Given the description of an element on the screen output the (x, y) to click on. 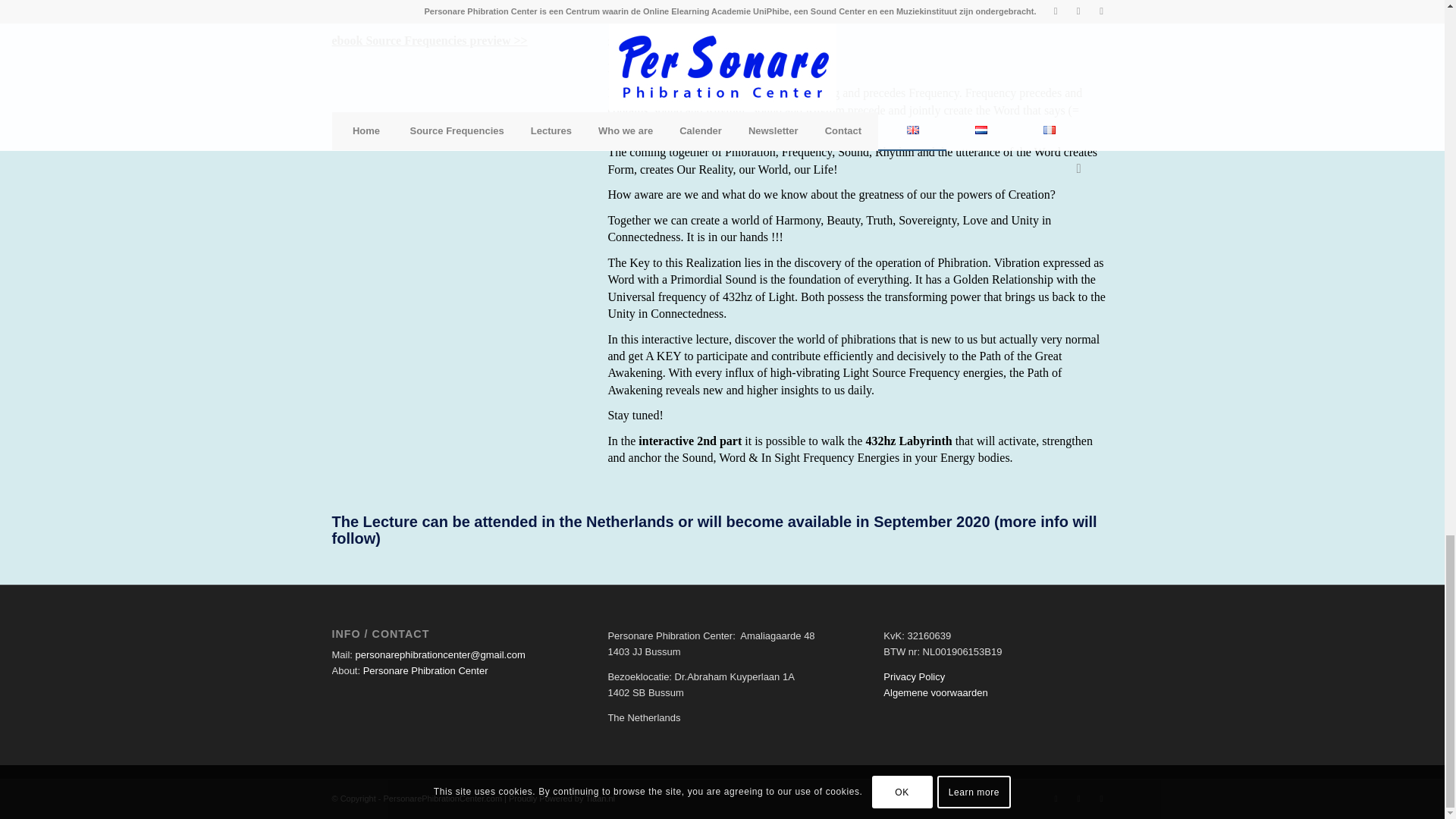
X (1078, 798)
Facebook (1056, 798)
Tiaan.nl (599, 798)
Algemene voorwaarden (935, 692)
Instagram (1101, 798)
Personare Phibration Center (424, 670)
Privacy Policy (913, 676)
